Given the description of an element on the screen output the (x, y) to click on. 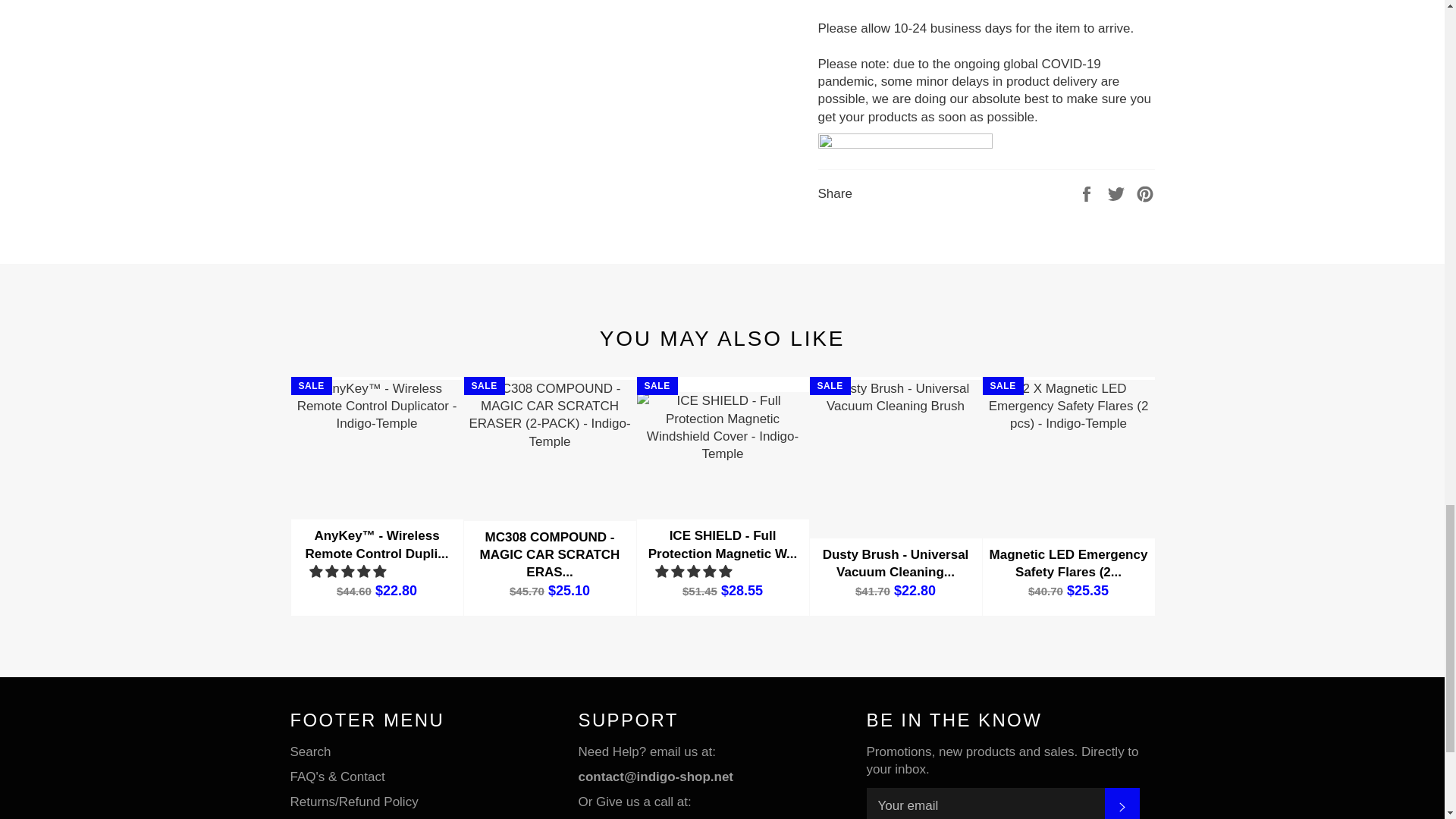
Pin on Pinterest (1144, 193)
Tweet on Twitter (1117, 193)
Share on Facebook (1088, 193)
